Given the description of an element on the screen output the (x, y) to click on. 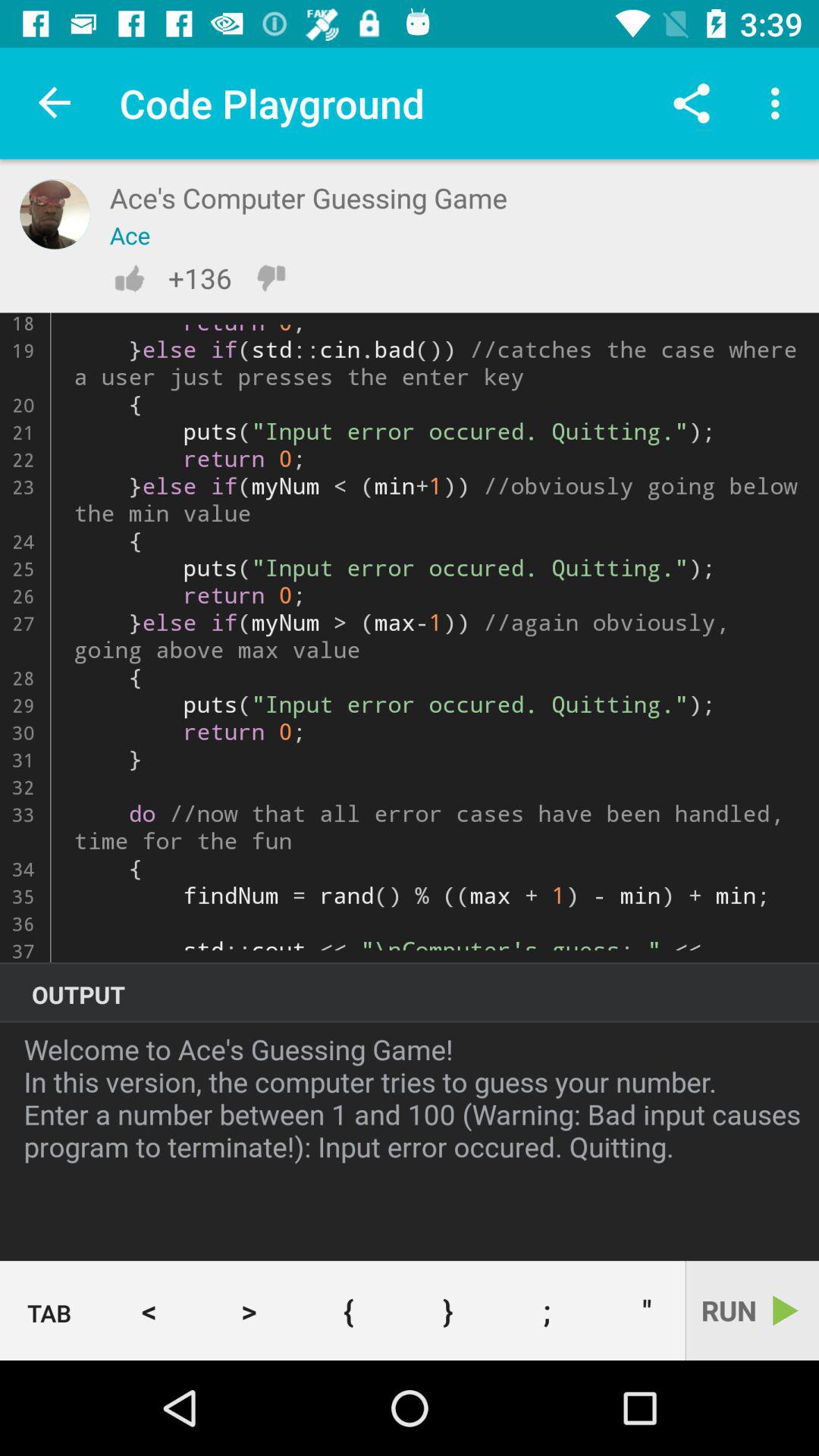
disklike button (270, 277)
